Given the description of an element on the screen output the (x, y) to click on. 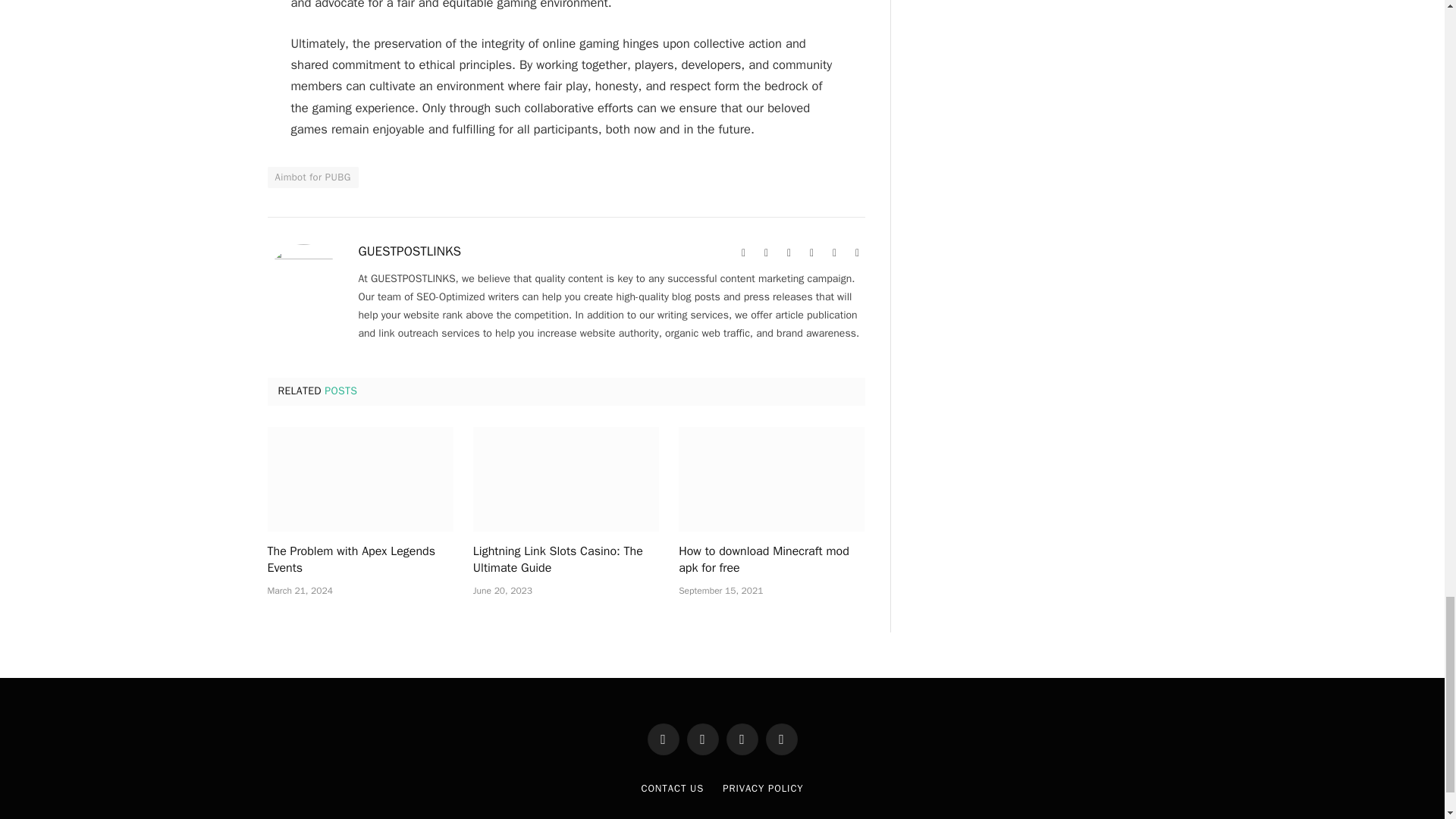
Website (743, 253)
How to download Minecraft mod apk for free (771, 560)
Lightning Link Slots Casino: The Ultimate Guide (566, 560)
Pinterest (810, 253)
Facebook (765, 253)
Posts by GUESTPOSTLINKS (409, 251)
Pinterest (810, 253)
Website (743, 253)
LinkedIn (856, 253)
Instagram (834, 253)
